Given the description of an element on the screen output the (x, y) to click on. 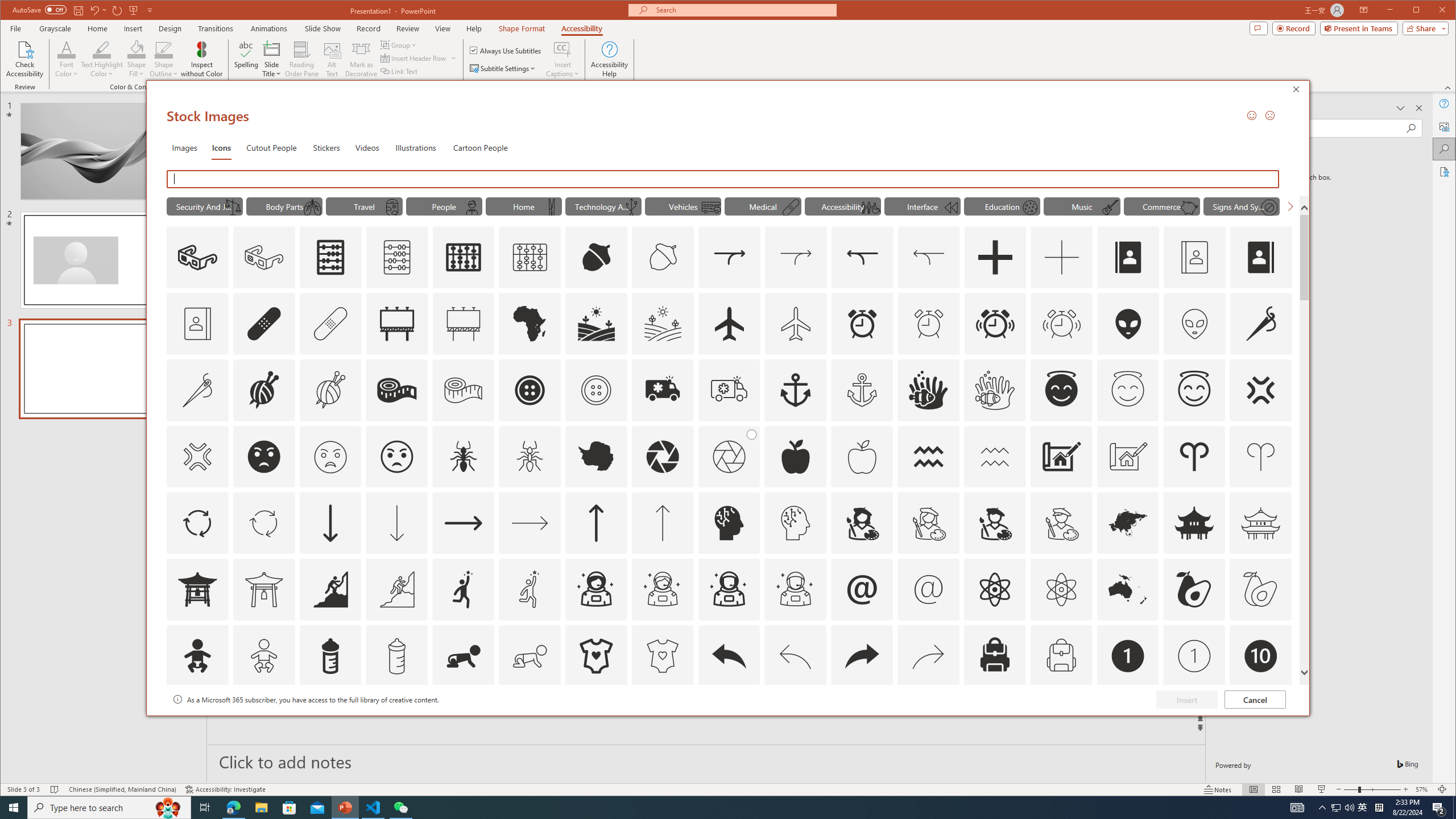
Task Pane Options (1400, 107)
AutomationID: Icons_AstronautFemale (595, 589)
"Signs And Symbols" Icons. (1241, 206)
AutomationID: Icons_Badge10 (1260, 655)
AutomationID: Icons_ArrowCircle (197, 522)
AutomationID: Icons_Badge1_M (1193, 655)
AutomationID: Icons_ArtificialIntelligence (729, 522)
AutomationID: Icons_Badge2 (263, 721)
AutomationID: Icons_AngerSymbol_M (197, 456)
